Given the description of an element on the screen output the (x, y) to click on. 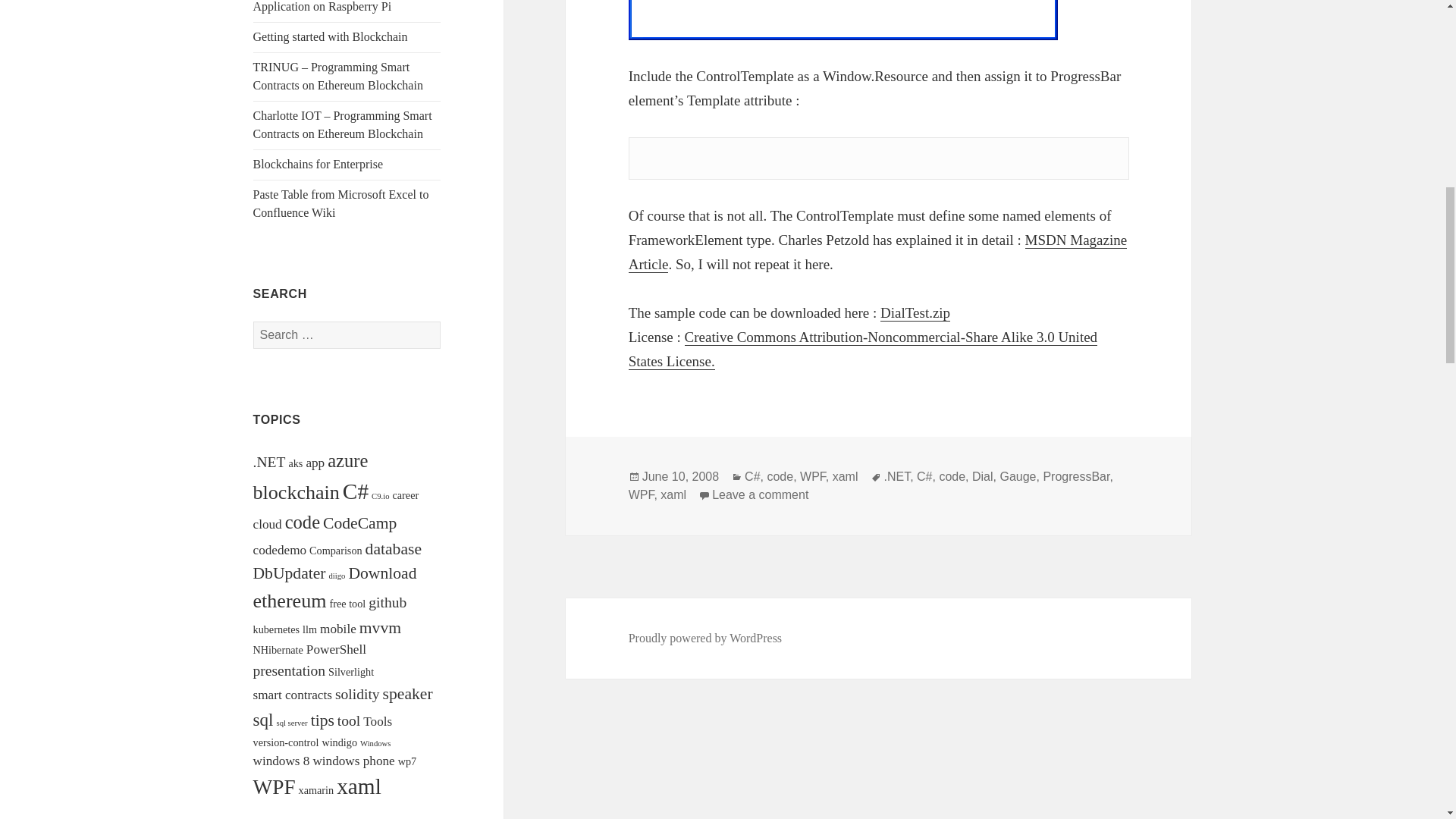
career (405, 494)
app (314, 462)
DialTest.zip (915, 312)
blockchain (296, 492)
azure (347, 460)
database (393, 548)
ethereum (289, 600)
free tool (347, 603)
Comparison (335, 550)
diigo (337, 575)
Download (381, 573)
Paste Table from Microsoft Excel to Confluence Wiki (341, 203)
